Given the description of an element on the screen output the (x, y) to click on. 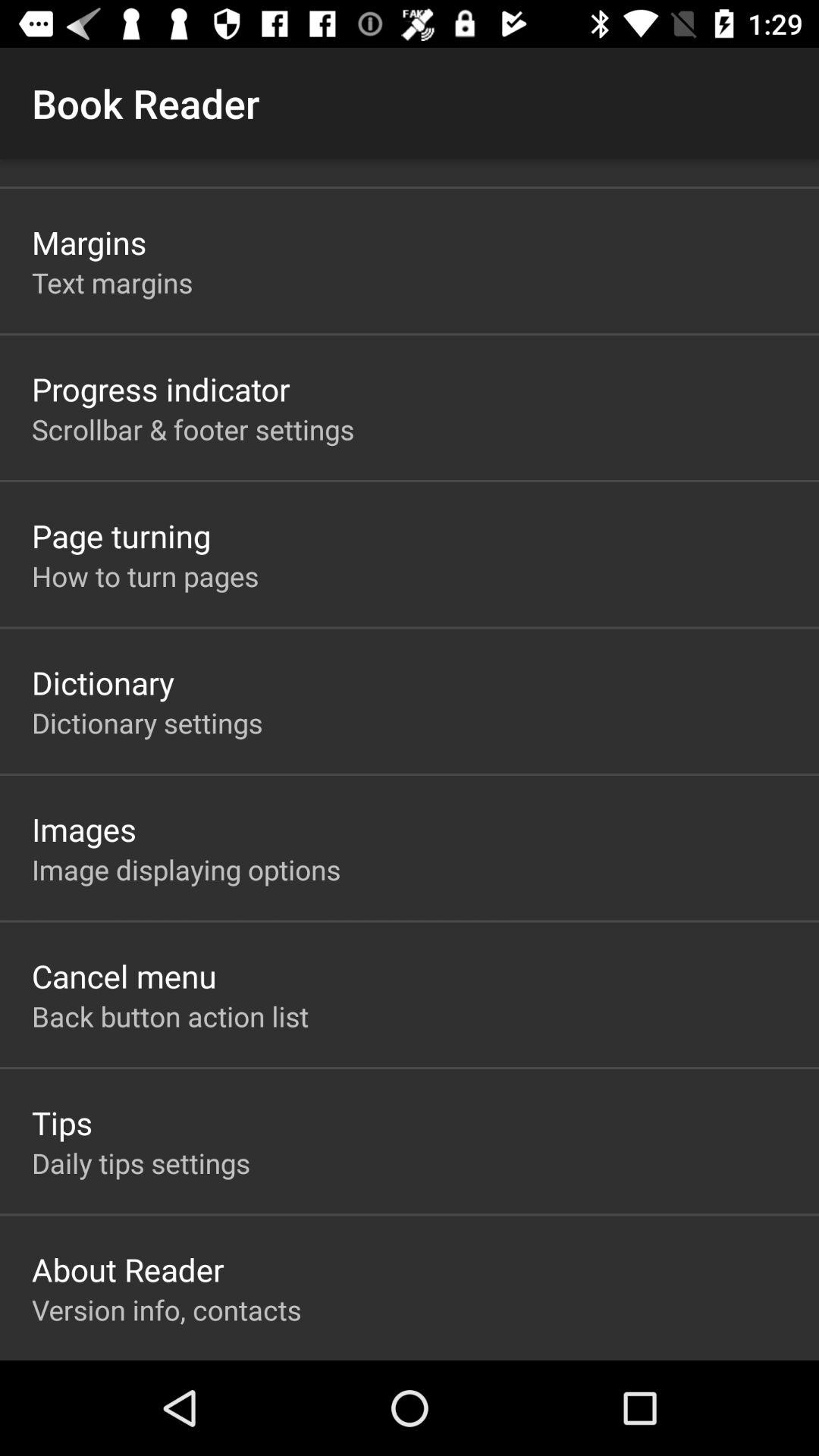
click icon above dictionary app (144, 575)
